Given the description of an element on the screen output the (x, y) to click on. 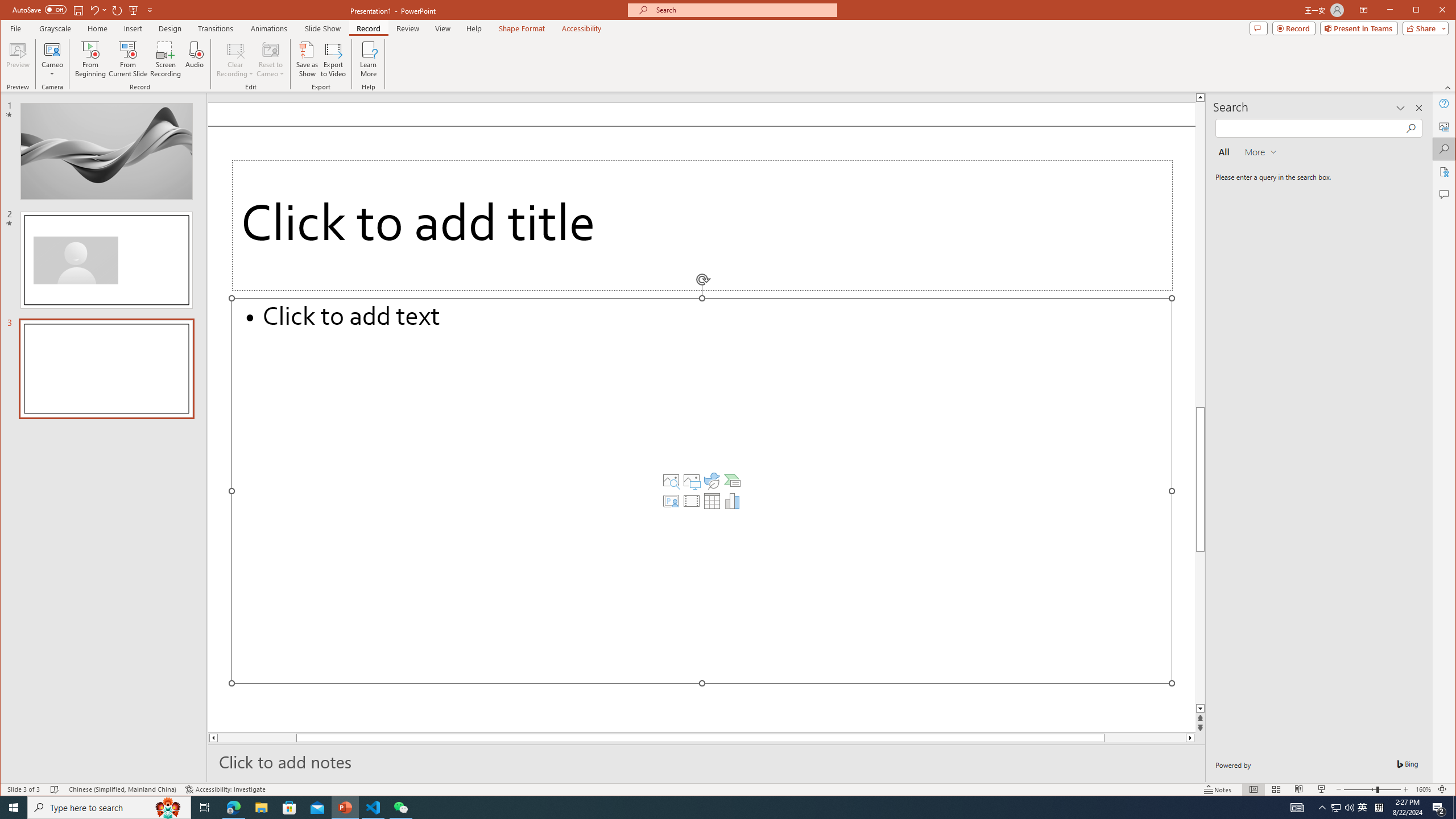
Redo (117, 9)
File Tab (15, 27)
Slide Sorter (1276, 789)
Export to Video (333, 59)
Ribbon Display Options (1364, 9)
Insert Cameo (670, 501)
Insert (133, 28)
Task View (1362, 807)
Close pane (204, 807)
Zoom 160% (1418, 107)
Running applications (1422, 789)
Comments (707, 807)
Microsoft Edge - 1 running window (1258, 28)
